Given the description of an element on the screen output the (x, y) to click on. 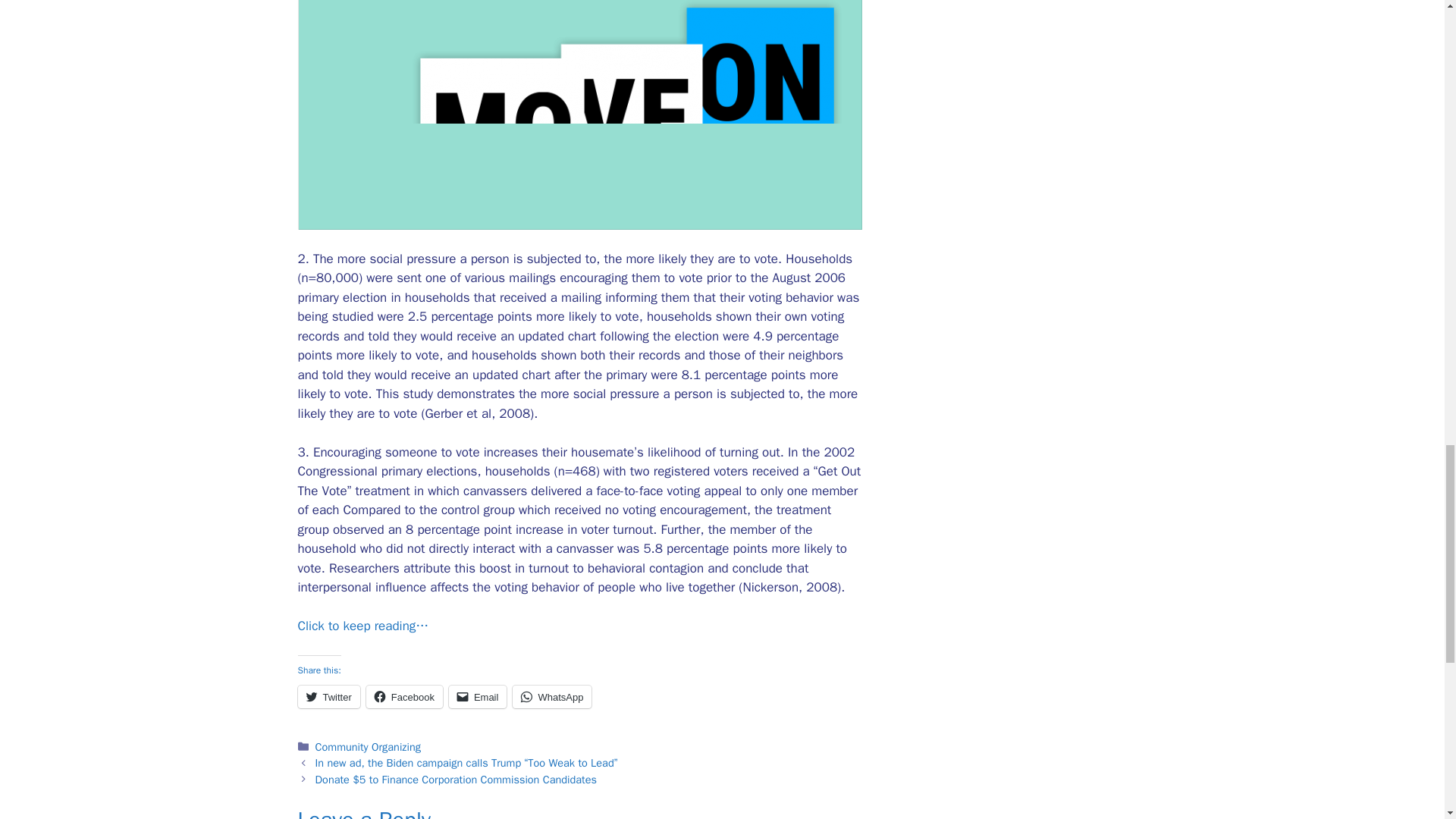
Click to share on Facebook (404, 696)
Community Organizing (367, 746)
Twitter (328, 696)
Click to email a link to a friend (477, 696)
WhatsApp (551, 696)
Facebook (404, 696)
Email (477, 696)
Click to share on WhatsApp (551, 696)
Click to share on Twitter (328, 696)
